Given the description of an element on the screen output the (x, y) to click on. 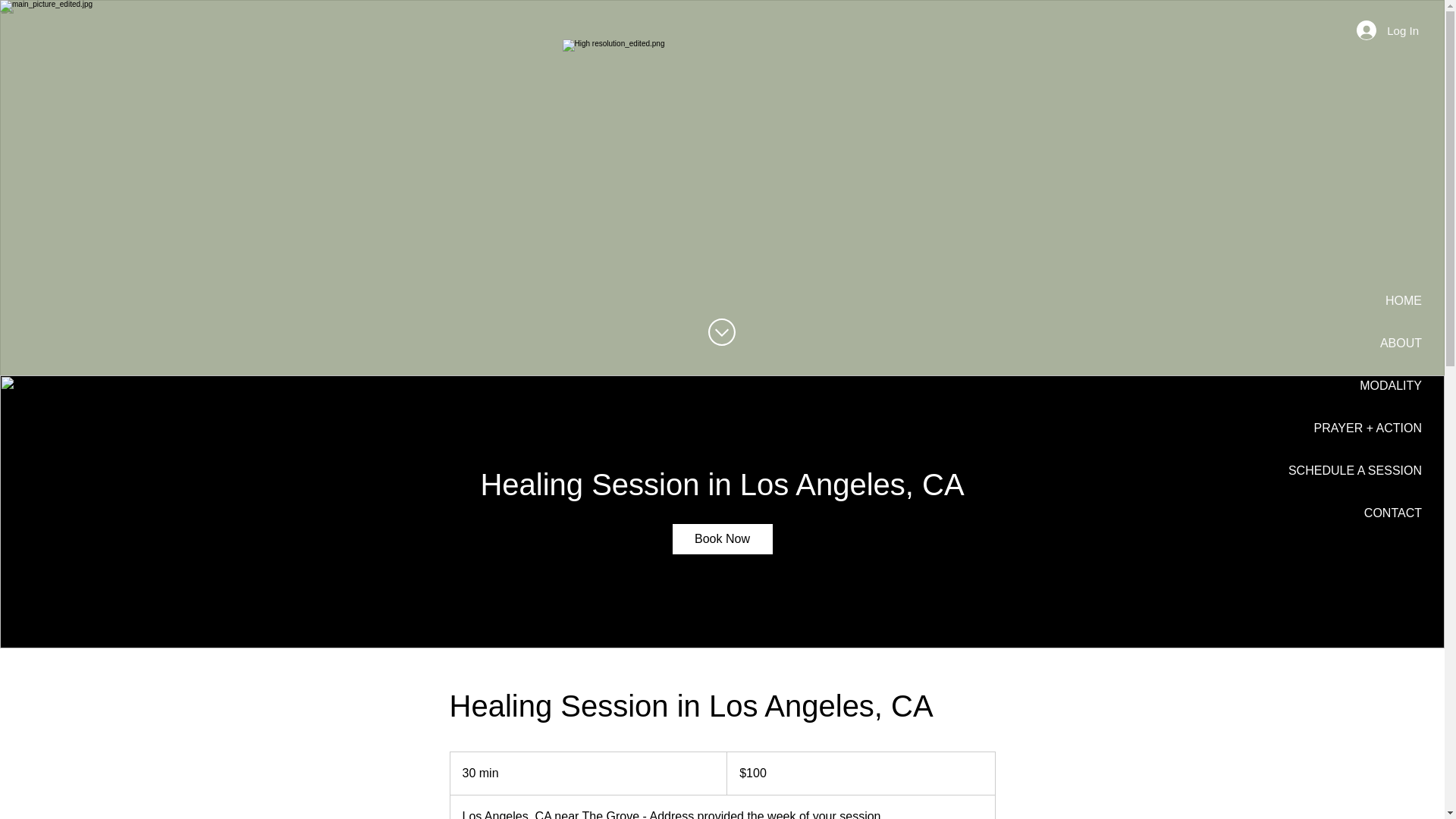
ABOUT (1401, 343)
Book Now (721, 539)
Log In (1387, 30)
CONTACT (1392, 513)
MODALITY (1390, 385)
SCHEDULE A SESSION (1355, 470)
HOME (1403, 300)
